Given the description of an element on the screen output the (x, y) to click on. 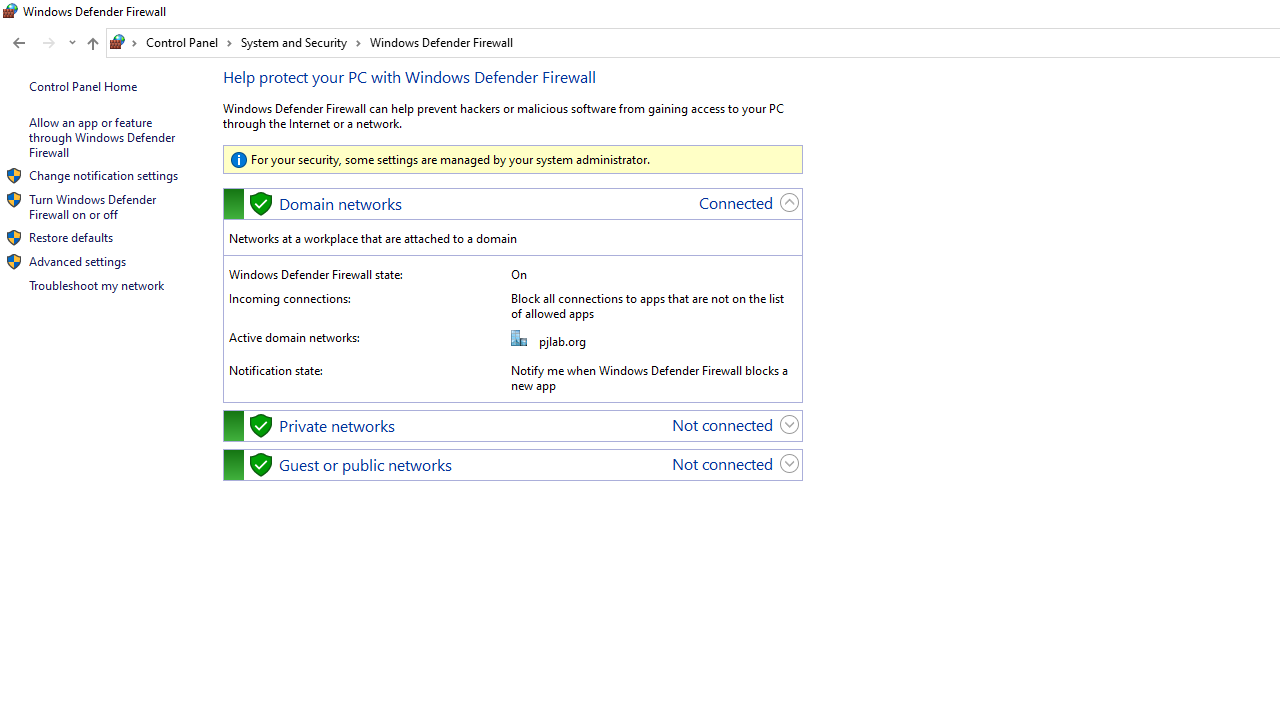
Recent locations (71, 43)
Control Panel (189, 42)
Connected (735, 202)
System and Security (301, 42)
Control Panel Home (82, 86)
Change notification settings (103, 174)
Back to System and Security (Alt + Left Arrow) (18, 43)
System (10, 11)
Forward (Alt + Right Arrow) (49, 43)
All locations (124, 42)
Icon (13, 262)
Troubleshoot my network (96, 285)
Windows Defender Firewall (441, 42)
Restore defaults (70, 236)
Not connected (721, 462)
